Given the description of an element on the screen output the (x, y) to click on. 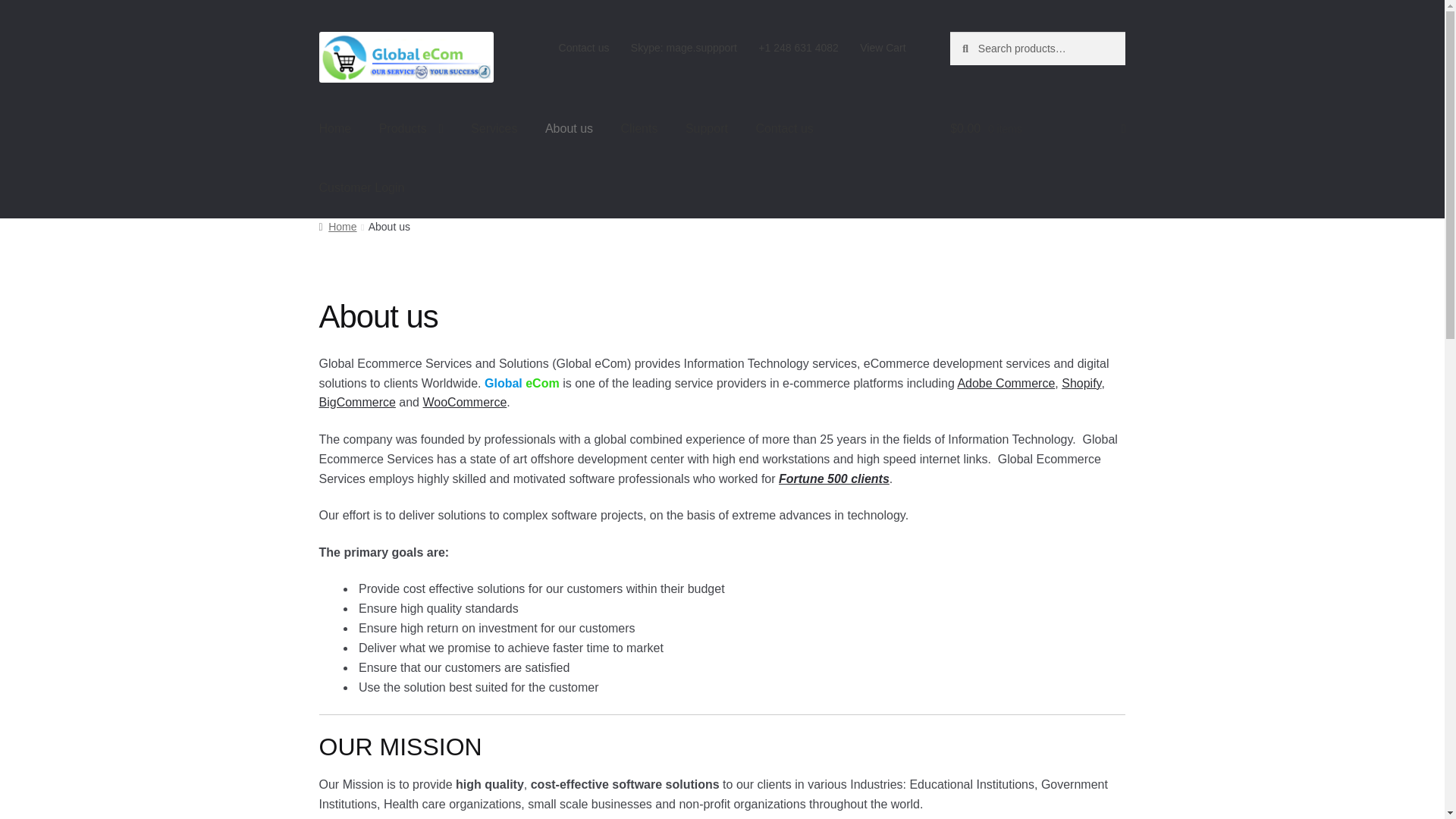
Home (335, 128)
Support (705, 128)
About us (568, 128)
Contact us (582, 47)
Customer Login (361, 187)
View your shopping cart (1037, 128)
Services (493, 128)
Clients (638, 128)
Skype: mage.suppport (683, 47)
Products (410, 128)
View Cart (882, 47)
Contact us (783, 128)
